Given the description of an element on the screen output the (x, y) to click on. 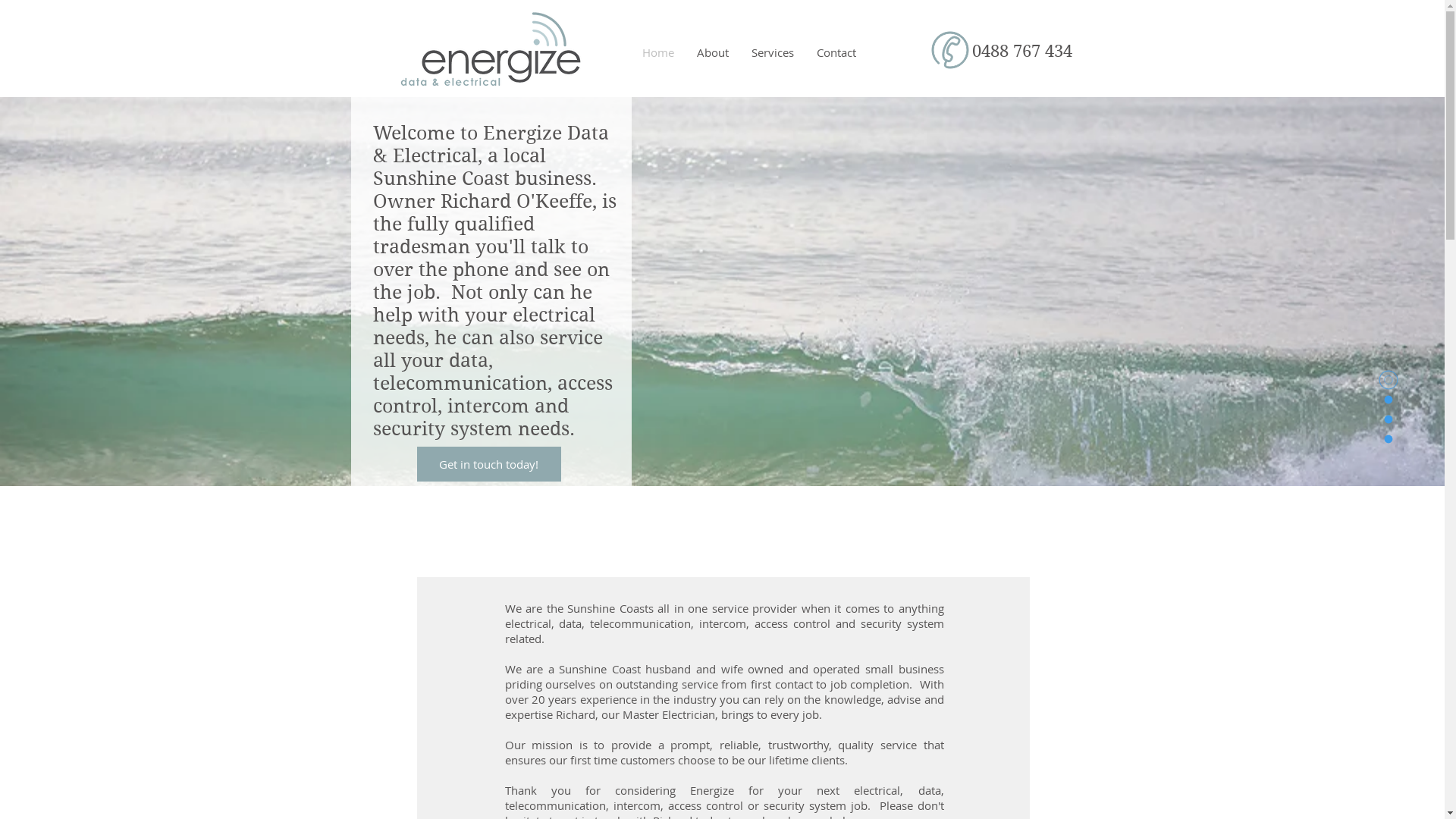
Contact Element type: text (836, 51)
About Element type: text (712, 51)
Services Element type: text (772, 51)
Home Element type: text (657, 51)
Get in touch today! Element type: text (489, 463)
